Given the description of an element on the screen output the (x, y) to click on. 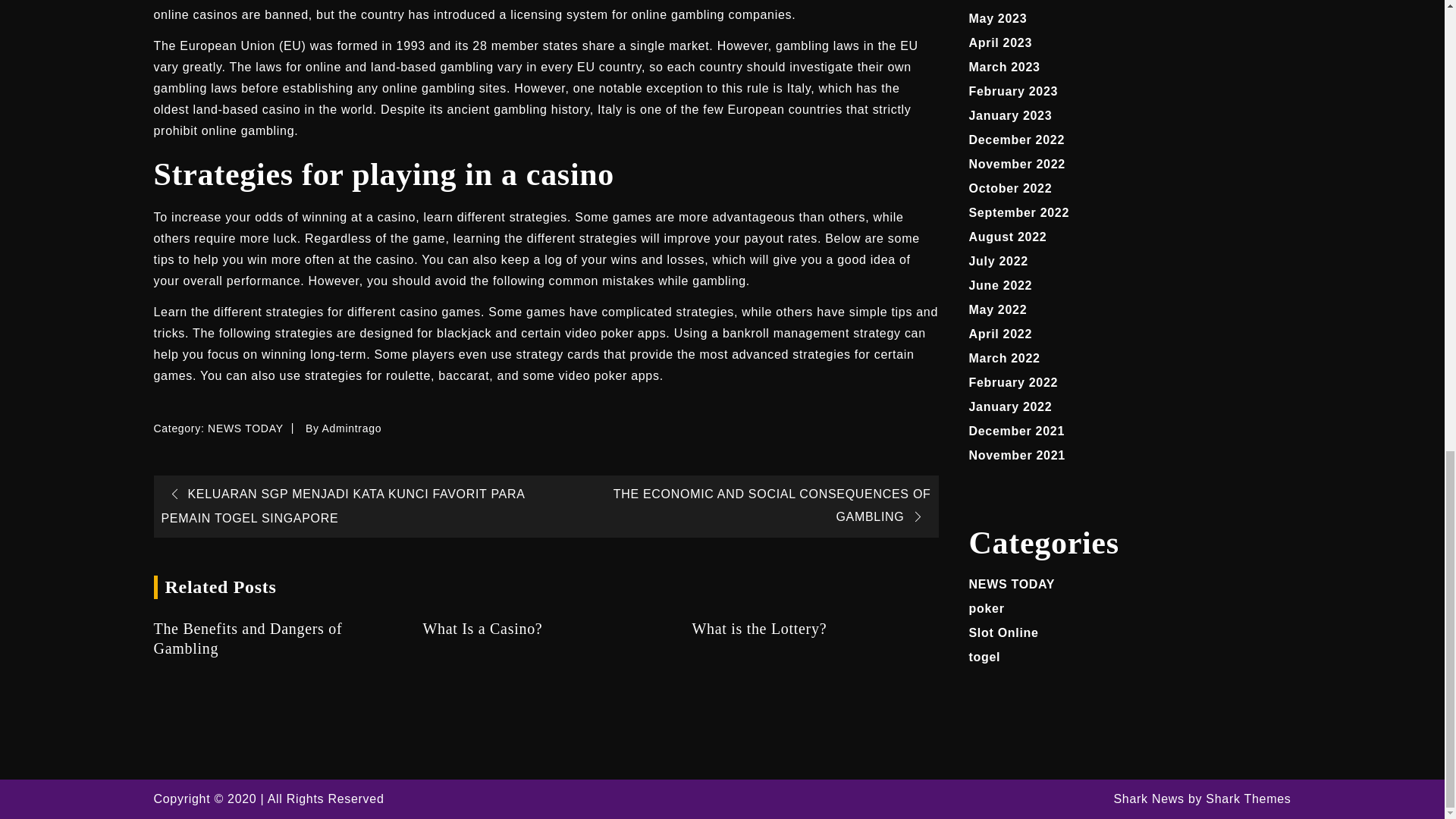
June 2023 (1000, 0)
THE ECONOMIC AND SOCIAL CONSEQUENCES OF GAMBLING (771, 505)
December 2022 (1017, 139)
October 2022 (1010, 187)
The Benefits and Dangers of Gambling (275, 638)
May 2023 (998, 18)
What Is a Casino? (545, 628)
February 2023 (1013, 91)
September 2022 (1019, 212)
What is the Lottery? (814, 628)
January 2023 (1010, 115)
November 2022 (1017, 164)
March 2023 (1005, 66)
Admintrago (351, 428)
